Given the description of an element on the screen output the (x, y) to click on. 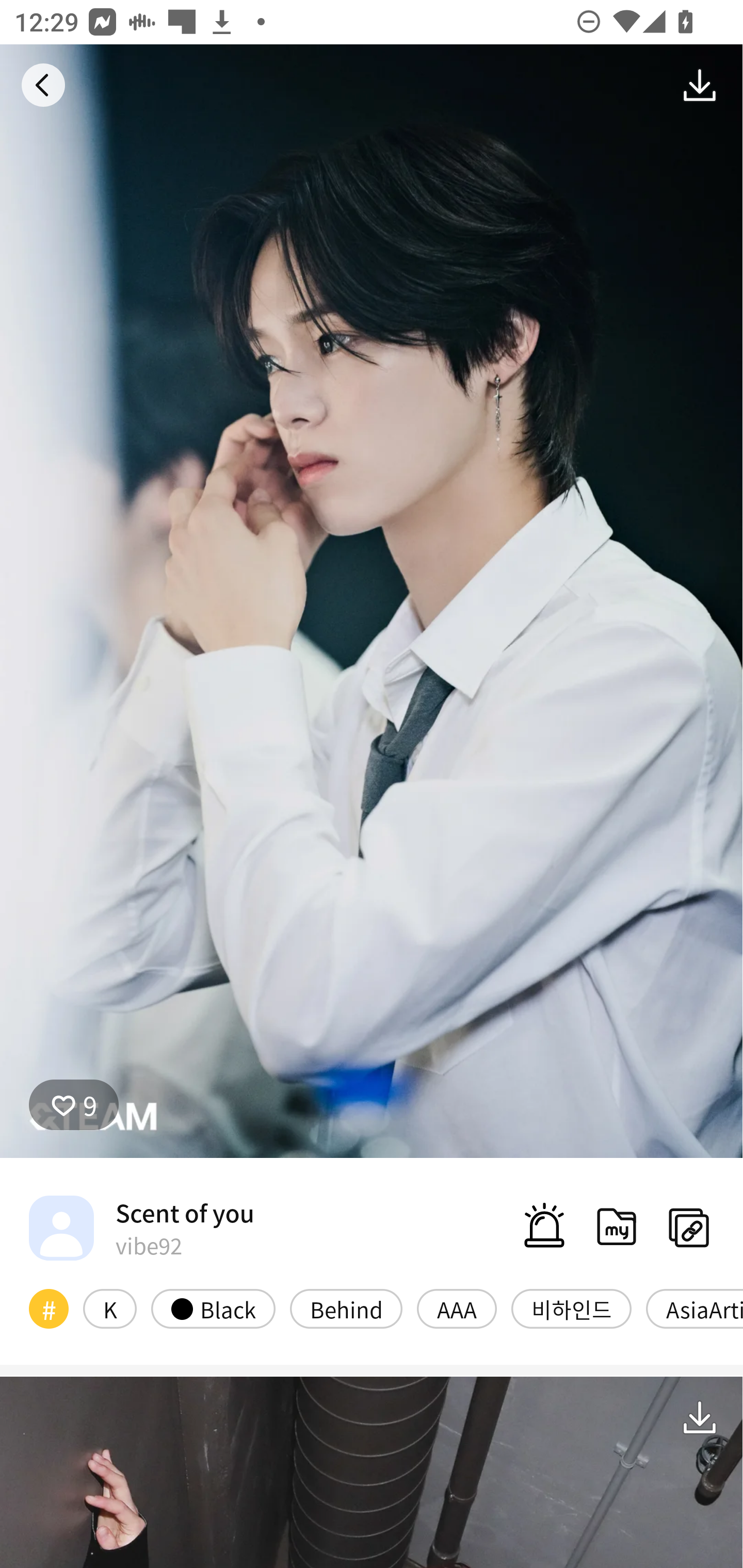
9 (73, 1104)
Scent of you vibe92 (141, 1227)
K (109, 1308)
Black (212, 1308)
Behind (345, 1308)
AAA (456, 1308)
비하인드 (571, 1308)
AsiaArtistAwards (694, 1308)
